Given the description of an element on the screen output the (x, y) to click on. 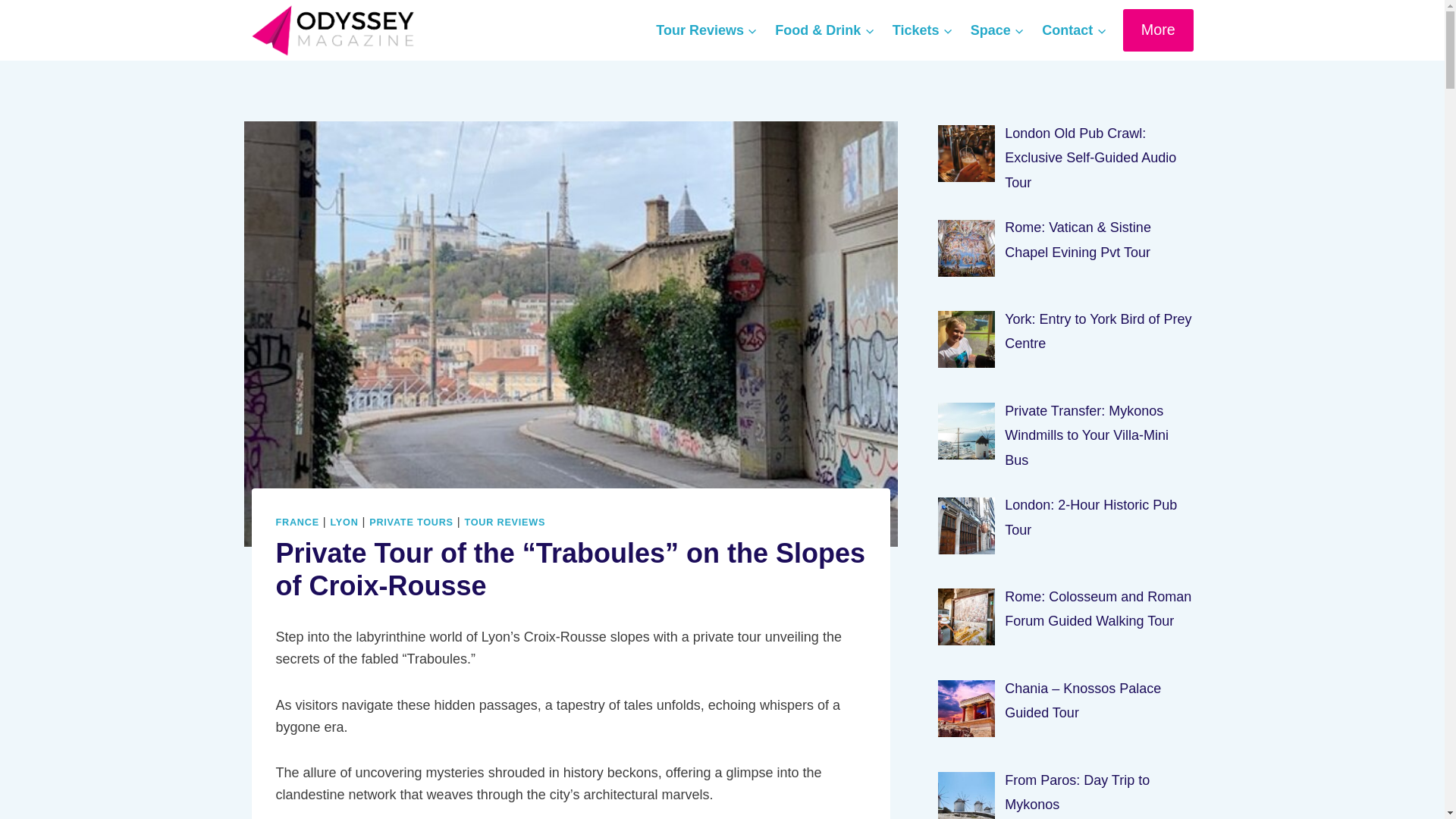
Contact (1074, 30)
LYON (344, 521)
Space (996, 30)
TOUR REVIEWS (504, 521)
Tour Reviews (707, 30)
FRANCE (297, 521)
Tickets (921, 30)
More (1157, 29)
PRIVATE TOURS (410, 521)
